Given the description of an element on the screen output the (x, y) to click on. 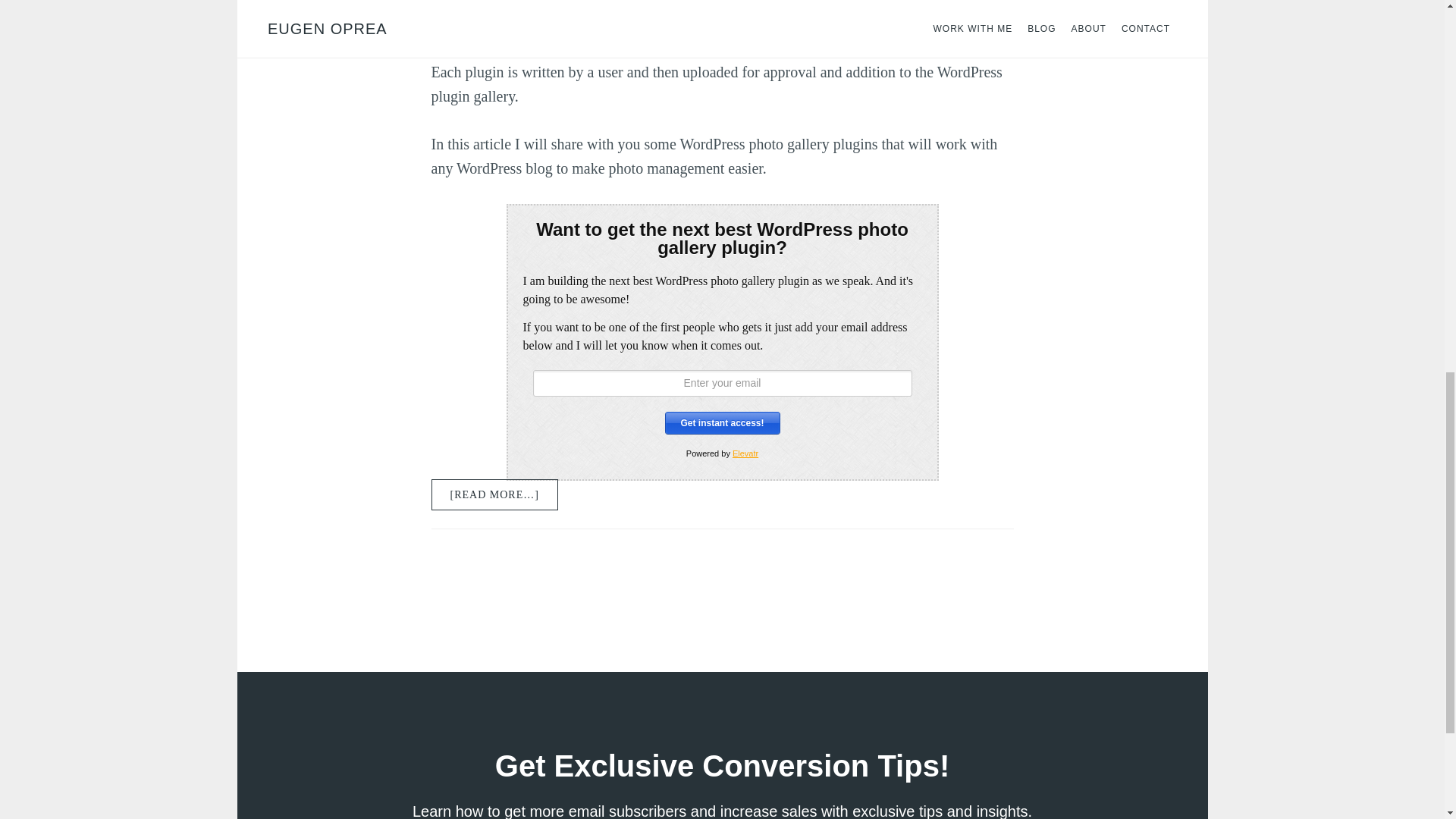
Get instant access! (720, 422)
Elevatr (745, 452)
Get instant access! (720, 422)
Elevatr (745, 452)
WordPress plugins (718, 4)
